Given the description of an element on the screen output the (x, y) to click on. 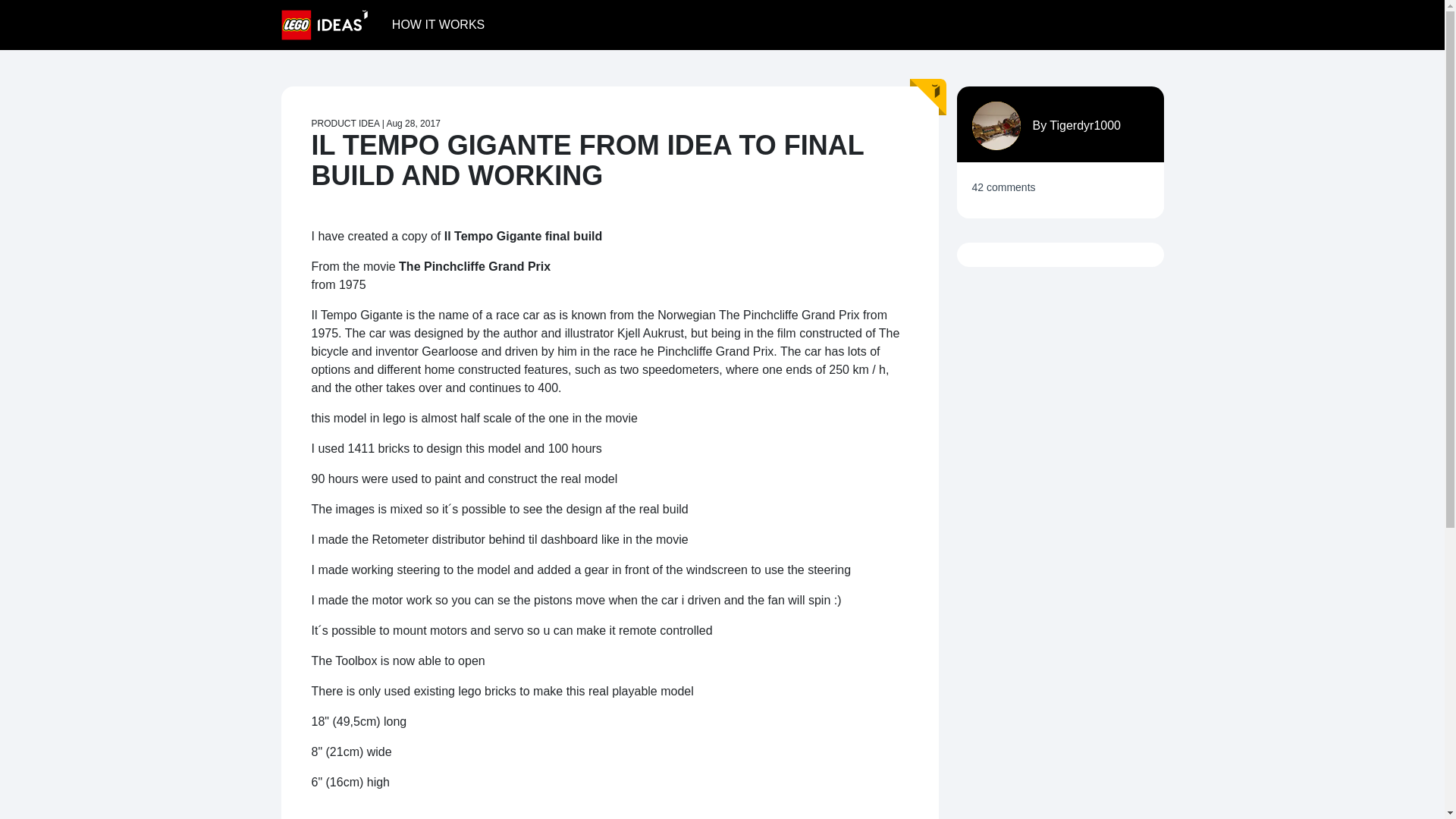
2017-08-28T19:25:19.936195Z (412, 122)
HOW IT WORKS (438, 24)
How It Works (438, 24)
Tigerdyr1000 (1085, 124)
